Given the description of an element on the screen output the (x, y) to click on. 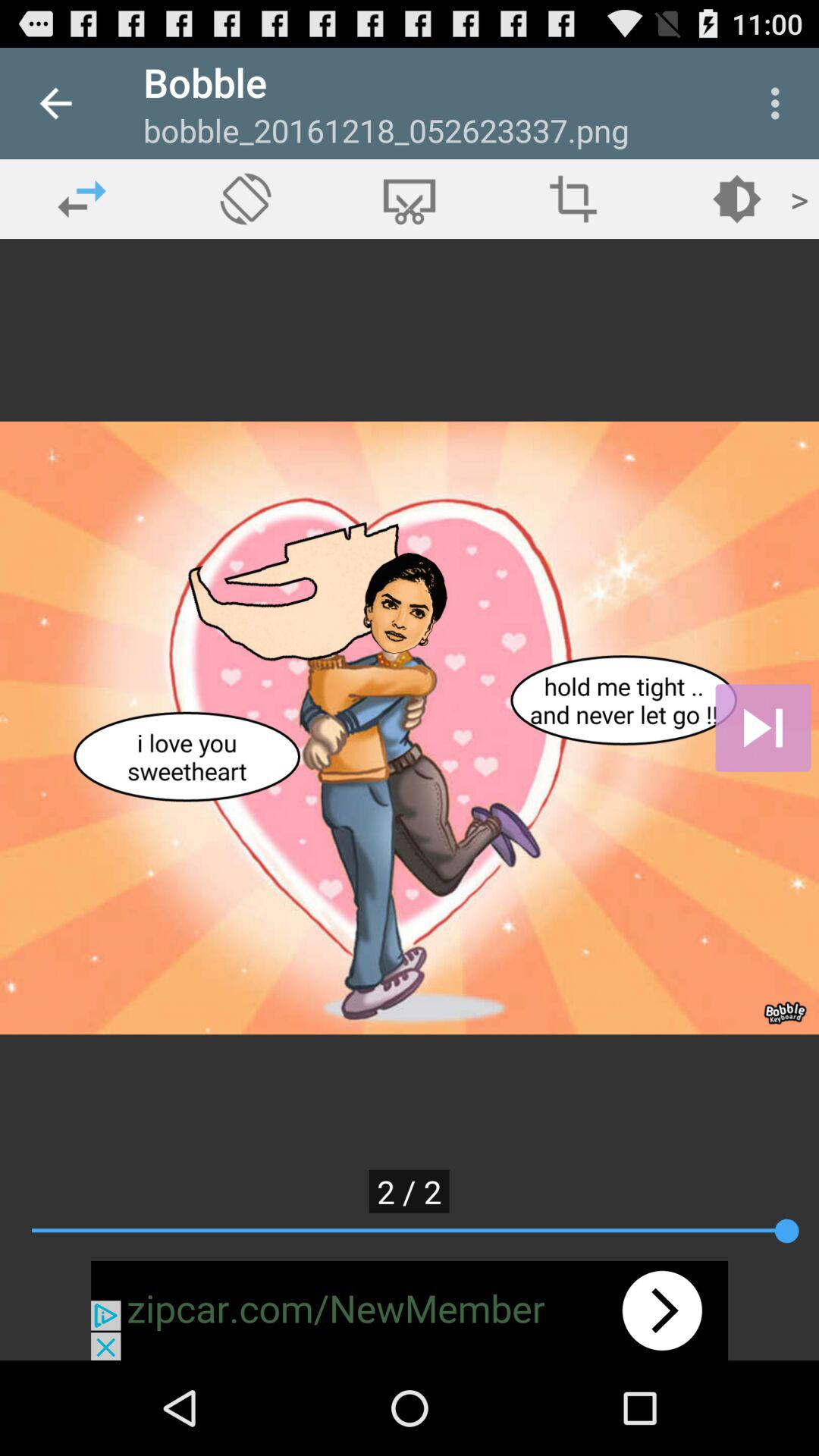
advertisiment advertisement (409, 1310)
